Given the description of an element on the screen output the (x, y) to click on. 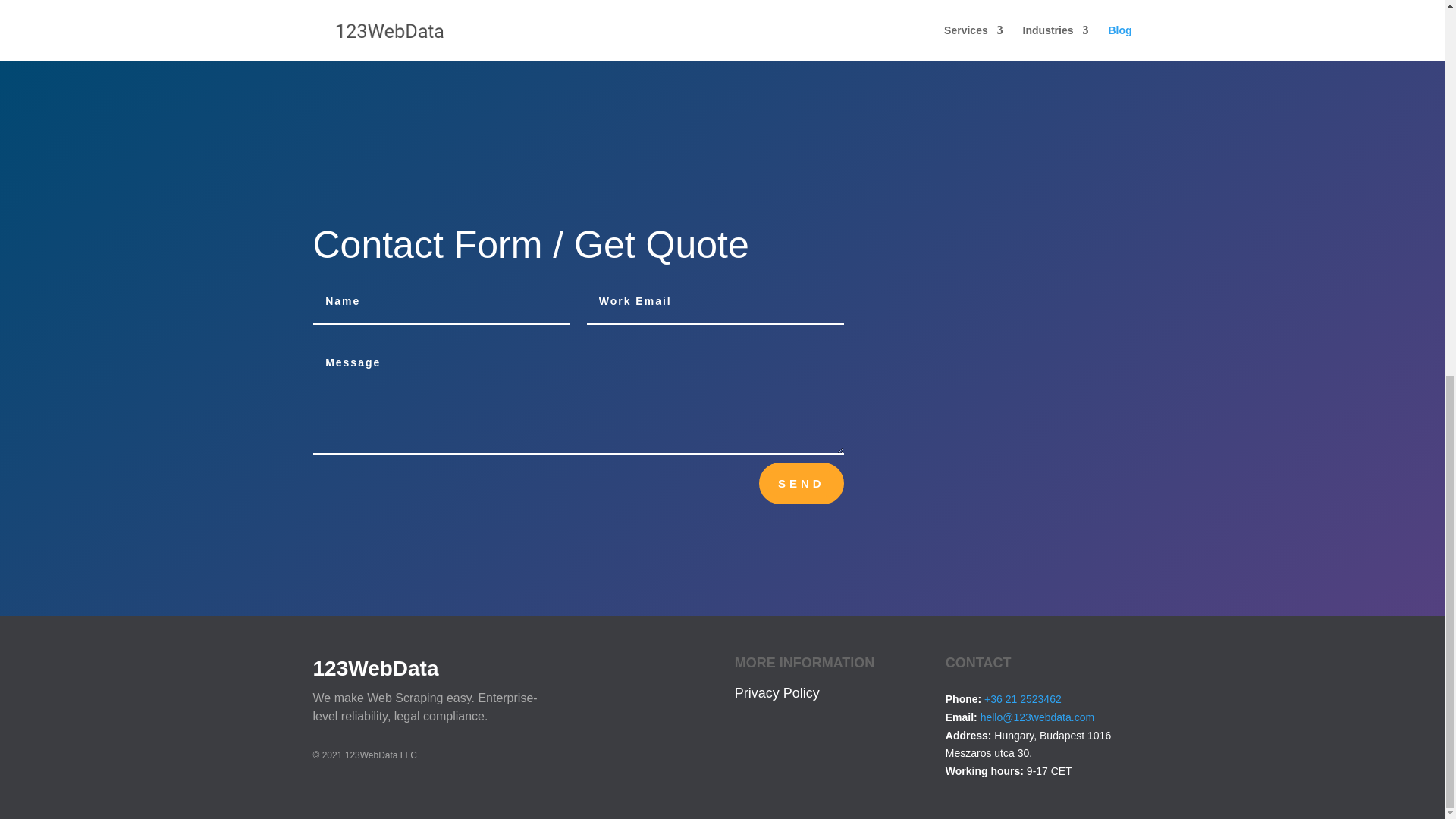
Privacy Policy (777, 693)
SEND (801, 483)
